Given the description of an element on the screen output the (x, y) to click on. 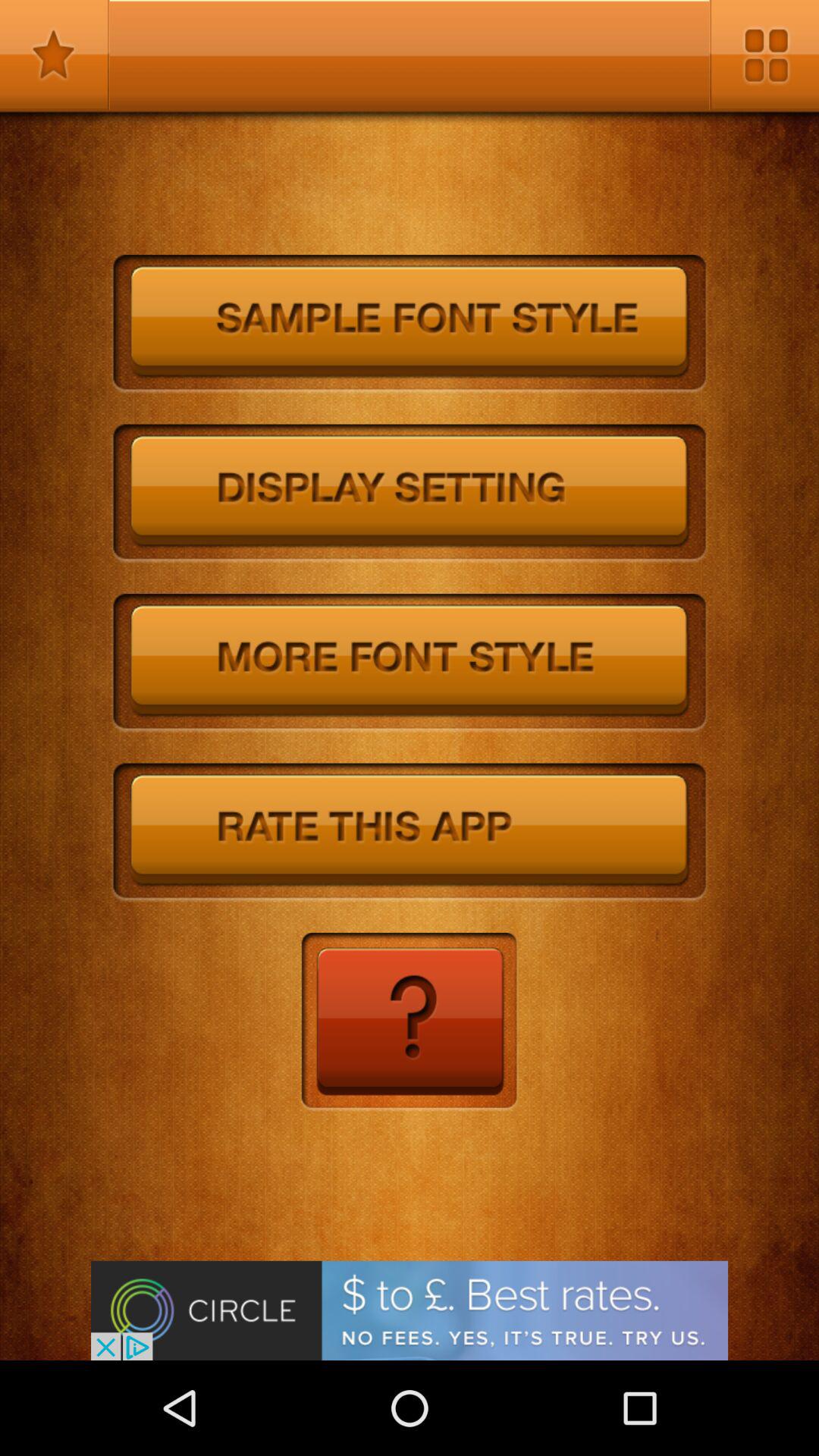
press top button (409, 324)
